Given the description of an element on the screen output the (x, y) to click on. 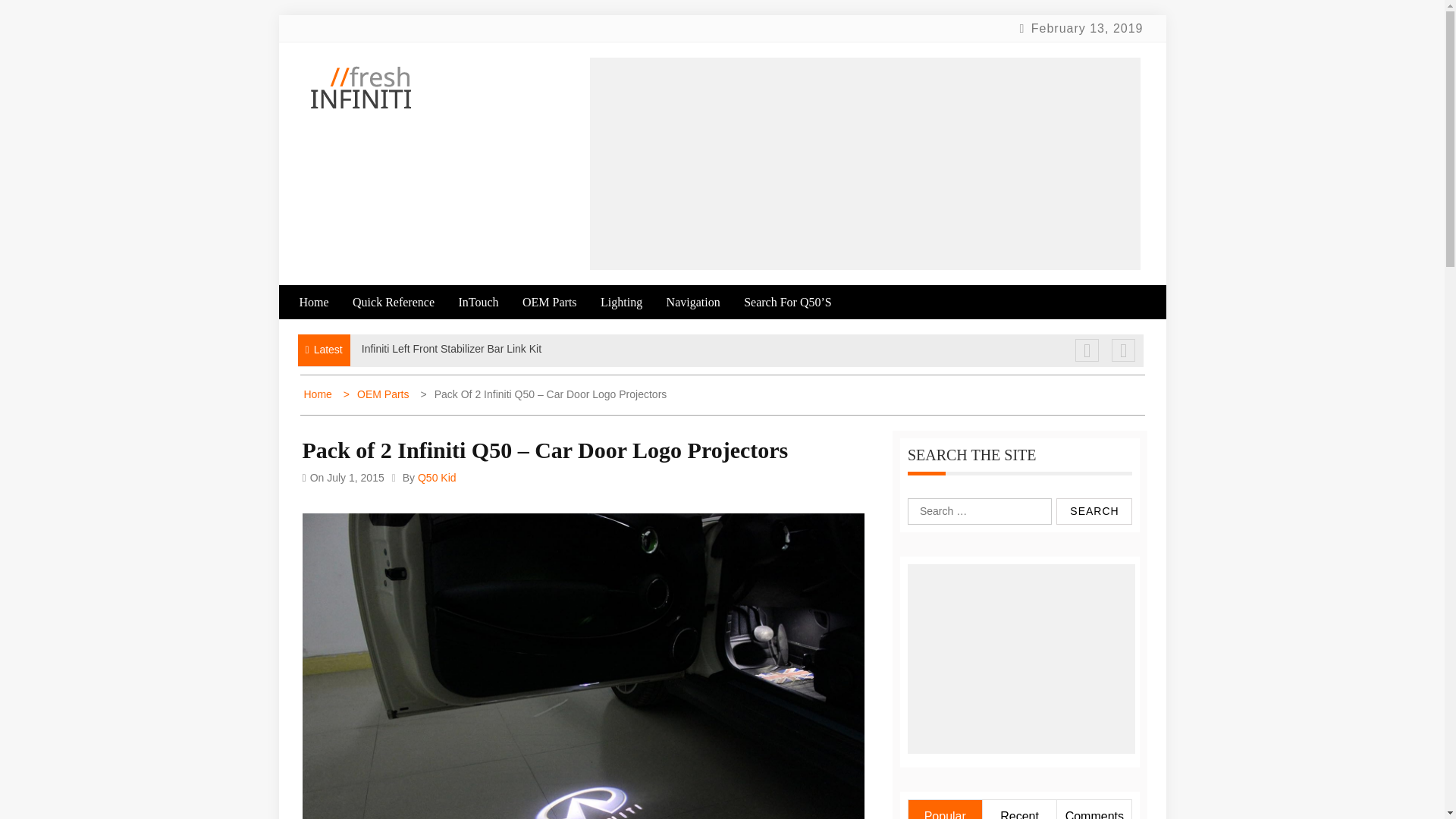
Quick Reference (403, 302)
Navigation (703, 302)
OEM Parts (378, 394)
OEM Parts (559, 302)
Advertisement (864, 163)
Q50 Kid (437, 477)
InTouch (488, 302)
Search (1094, 510)
July 1, 2015 (355, 477)
